Given the description of an element on the screen output the (x, y) to click on. 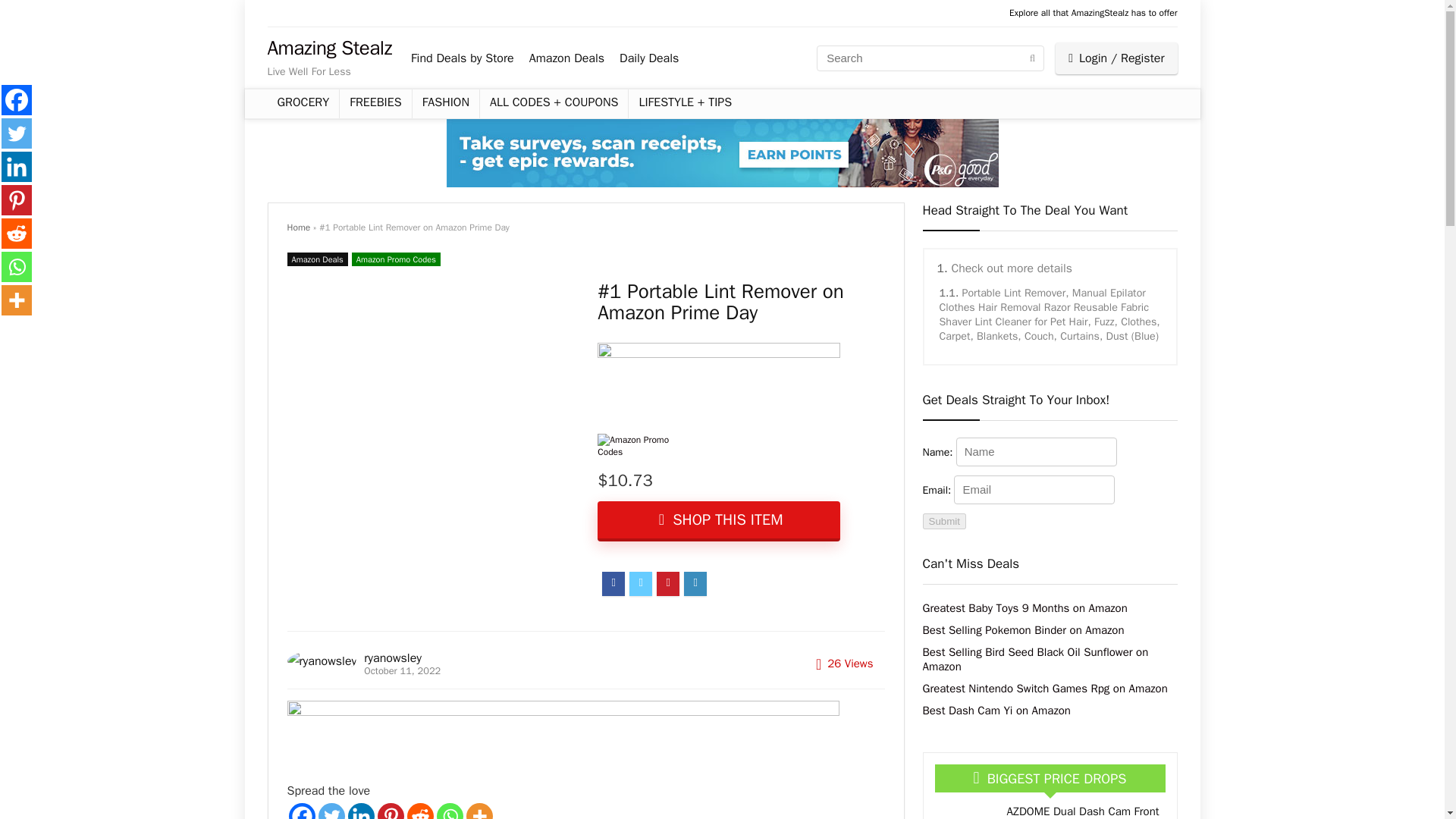
Amazon Deals (566, 57)
Twitter (331, 811)
GROCERY (302, 103)
FASHION (445, 103)
Facebook (301, 811)
More (478, 811)
SHOP THIS ITEM (718, 521)
Find Deals by Store (461, 57)
Pinterest (390, 811)
View all posts in Amazon Deals (316, 259)
Amazon Deals (316, 259)
ryanowsley (393, 657)
Whatsapp (449, 811)
View all posts in Amazon Promo Codes (396, 259)
Amazon Promo Codes (396, 259)
